Given the description of an element on the screen output the (x, y) to click on. 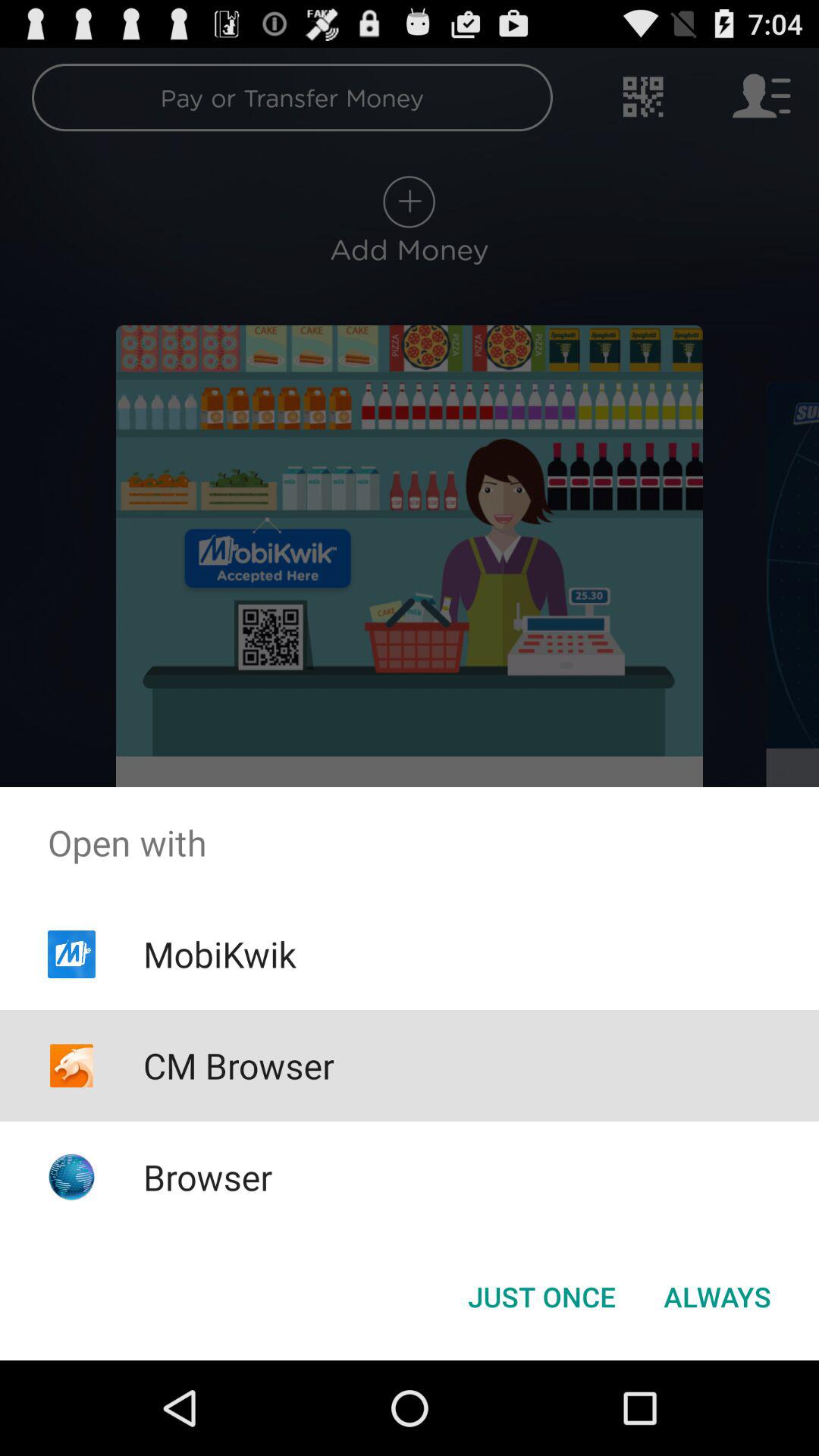
open item above browser (238, 1065)
